Given the description of an element on the screen output the (x, y) to click on. 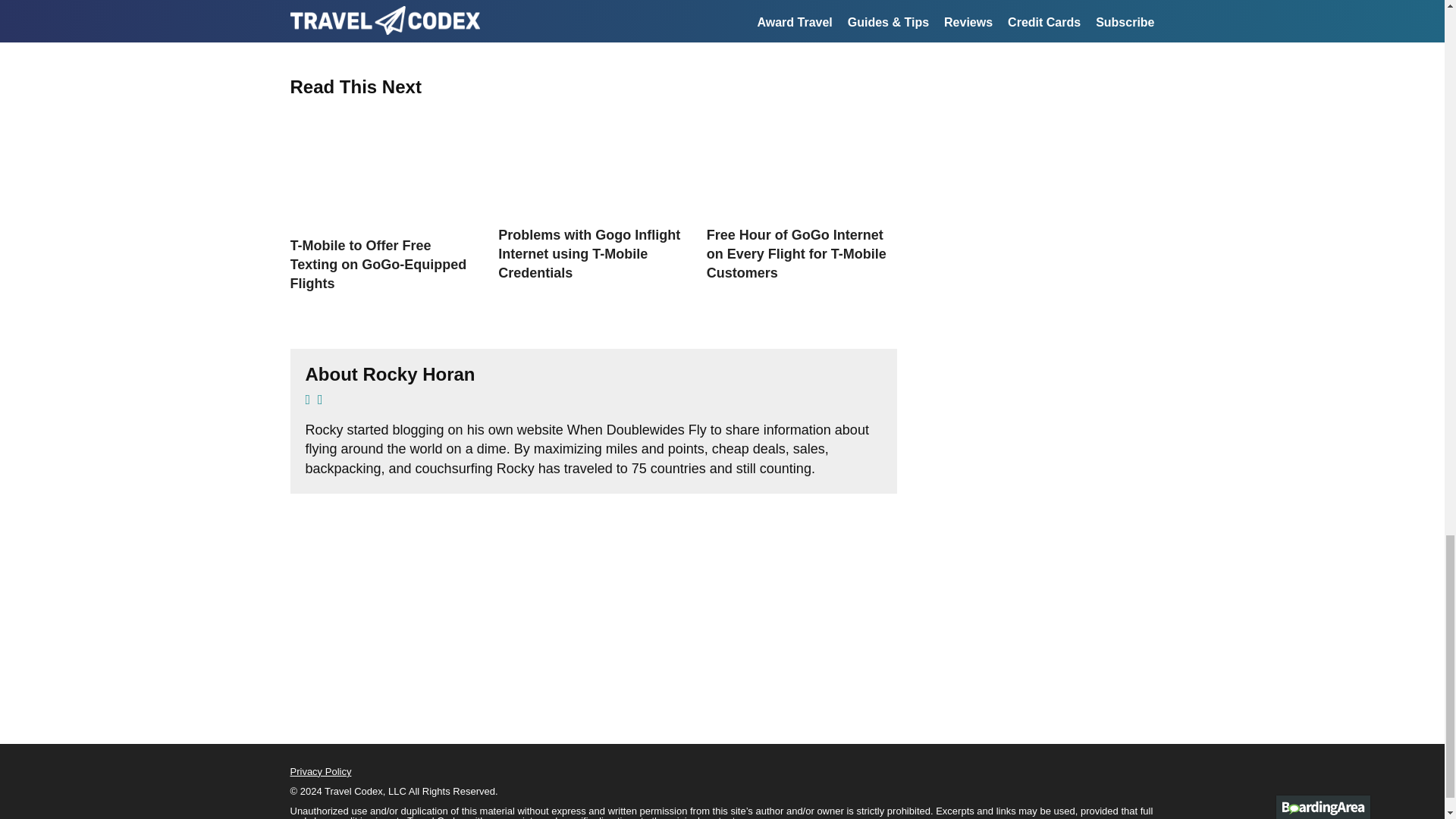
Email (822, 17)
Twitter (398, 17)
Share on LinkedIn (681, 17)
Share on Email (822, 17)
LinkedIn (681, 17)
Facebook (539, 17)
Share on Facebook (539, 17)
T-Mobile to Offer Free Texting on GoGo-Equipped Flights (377, 264)
Share on Twitter (398, 17)
